Given the description of an element on the screen output the (x, y) to click on. 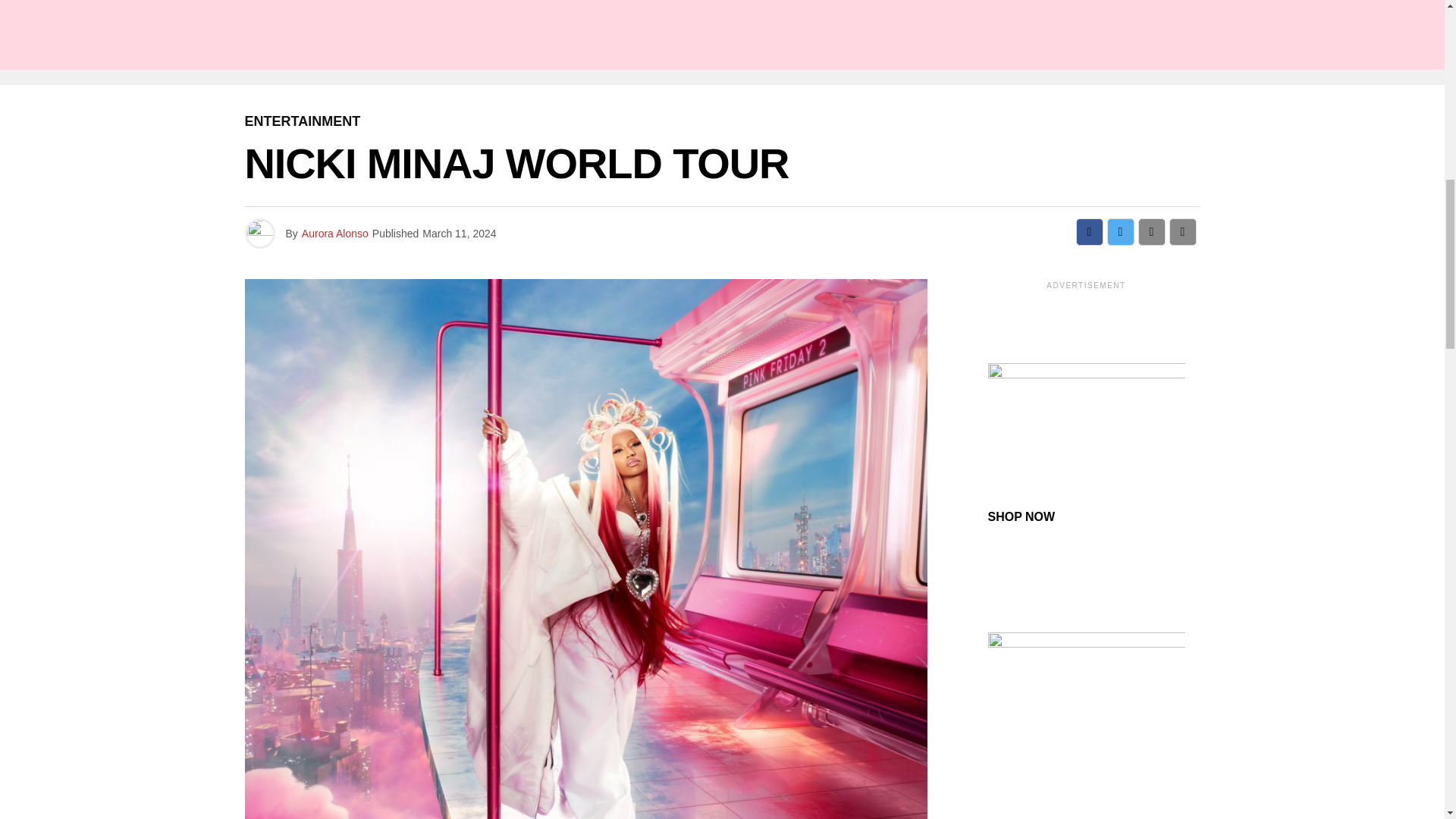
Share on Facebook (1088, 231)
Tweet This Post (1120, 231)
Posts by Aurora Alonso (334, 233)
Aurora Alonso (334, 233)
SHOP NOW (1020, 516)
ENTERTAINMENT (301, 121)
